Given the description of an element on the screen output the (x, y) to click on. 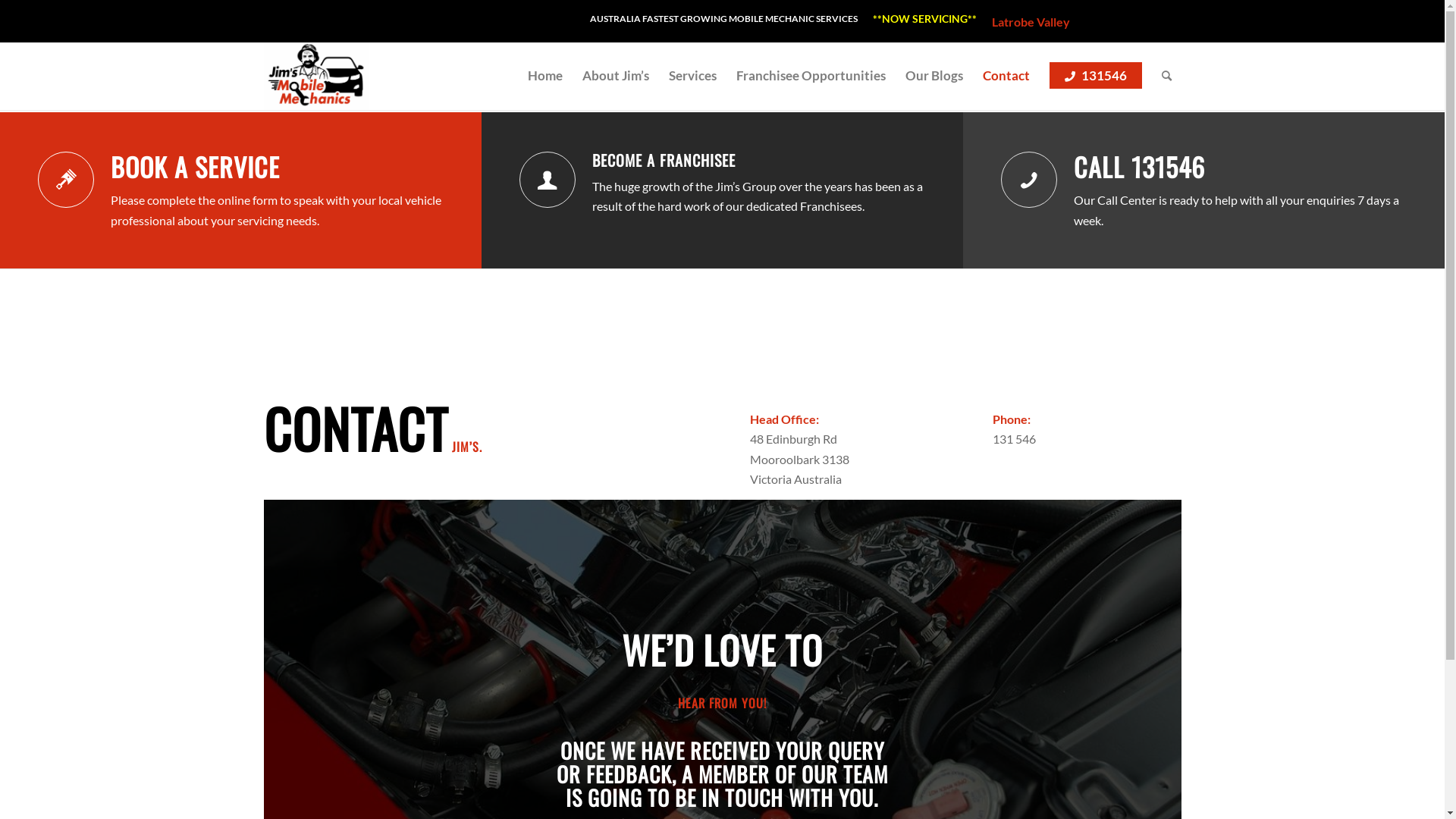
CALL 131546 Element type: text (1138, 166)
**NOW SERVICING** Element type: text (923, 19)
Contact Element type: text (1005, 75)
Franchisee Opportunities Element type: text (810, 75)
Services Element type: text (691, 75)
BOOK A SERVICE Element type: text (194, 166)
Home Element type: text (544, 75)
Call 131546 Element type: hover (1029, 179)
Book a Service Element type: hover (65, 179)
AUSTRALIA FASTEST GROWING MOBILE MECHANIC SERVICES Element type: text (723, 18)
131546 Element type: text (1094, 75)
Our Blogs Element type: text (933, 75)
